Given the description of an element on the screen output the (x, y) to click on. 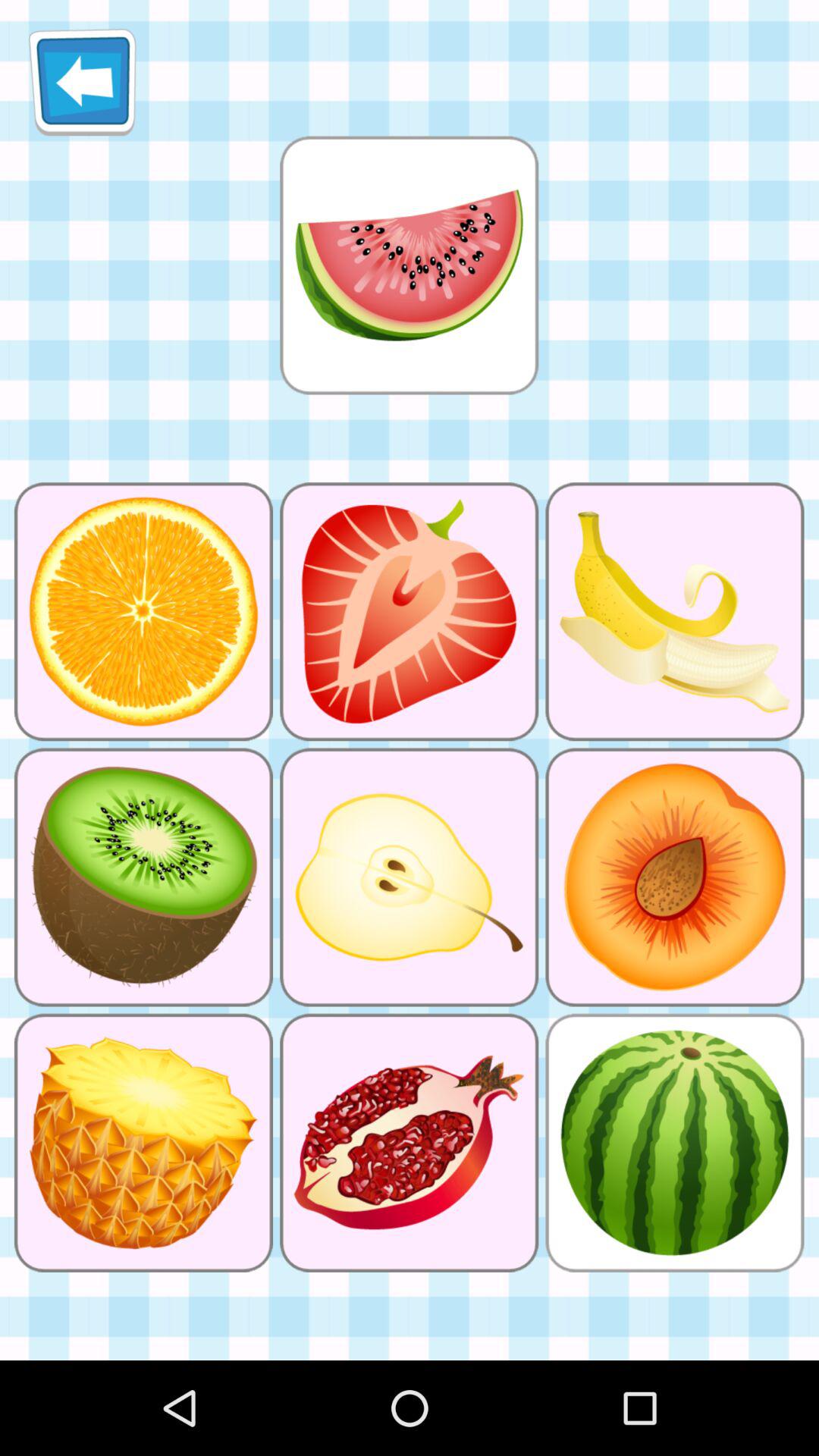
go back (82, 82)
